Given the description of an element on the screen output the (x, y) to click on. 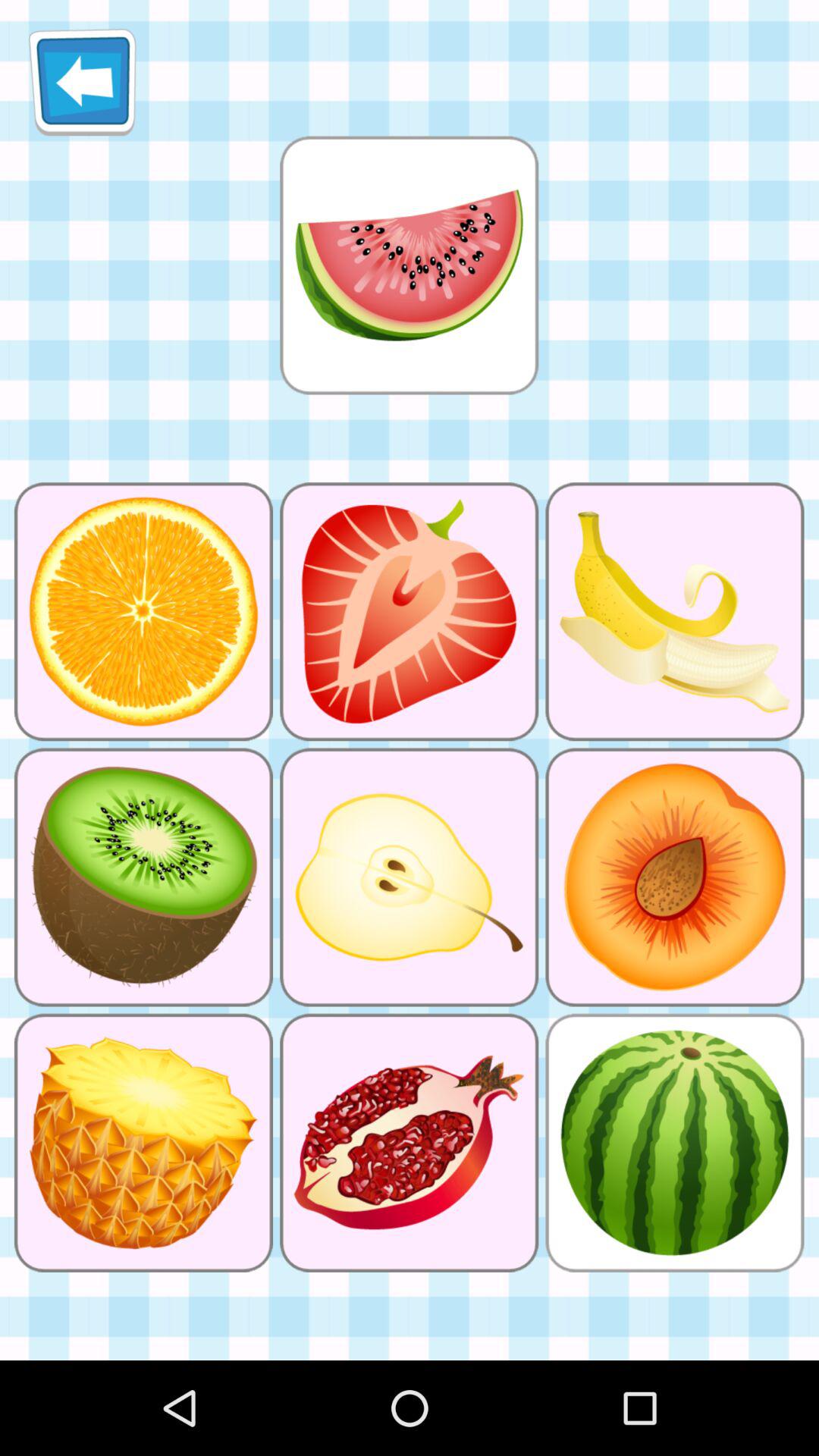
go back (82, 82)
